Given the description of an element on the screen output the (x, y) to click on. 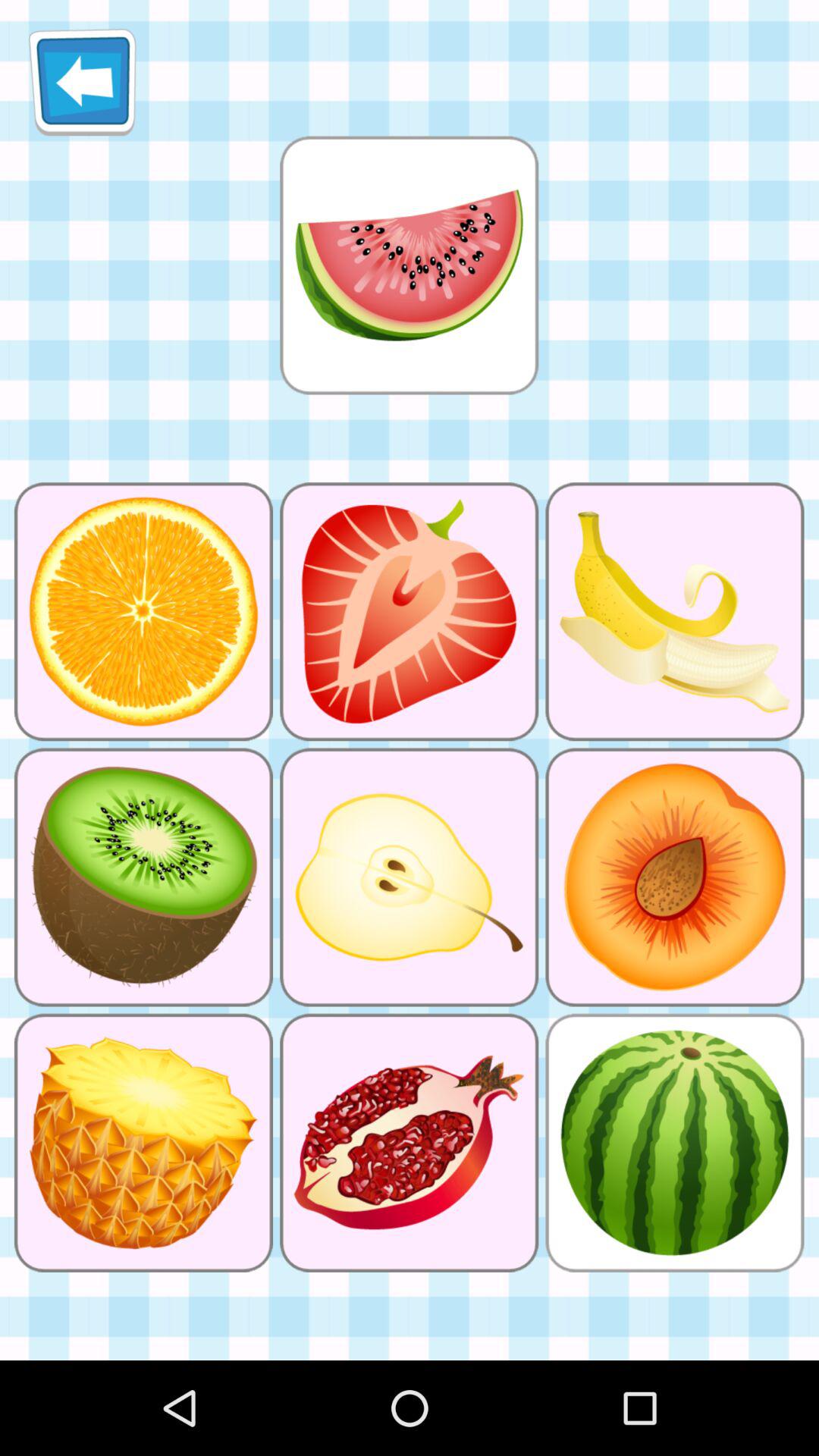
go back (82, 82)
